Given the description of an element on the screen output the (x, y) to click on. 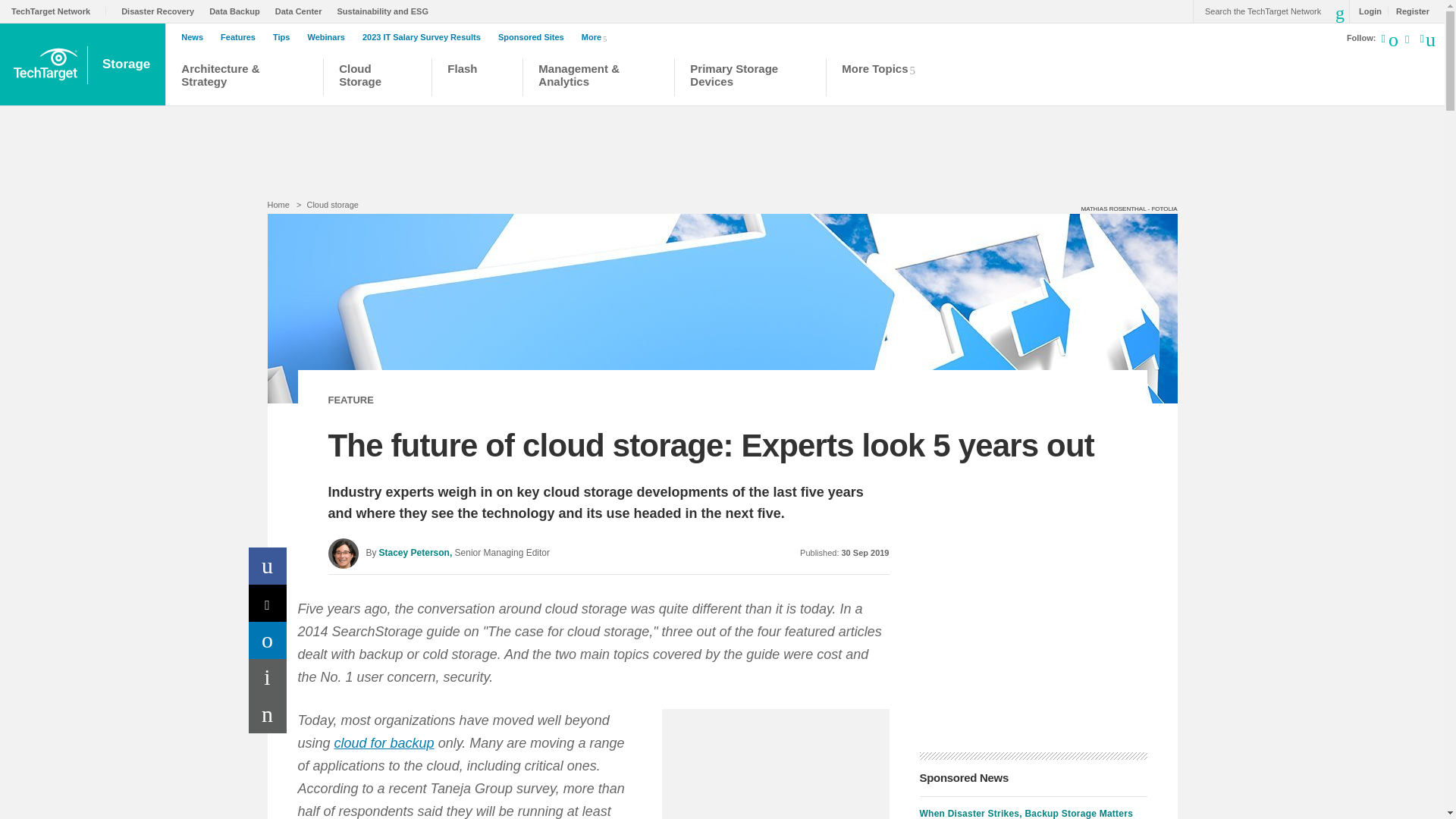
2023 IT Salary Survey Results (424, 36)
Tips (285, 36)
Share on X (267, 602)
Data Backup (238, 10)
More (596, 36)
Primary Storage Devices (750, 79)
Flash (476, 79)
Email a Friend (267, 714)
Features (242, 36)
Sponsored Sites (534, 36)
